Given the description of an element on the screen output the (x, y) to click on. 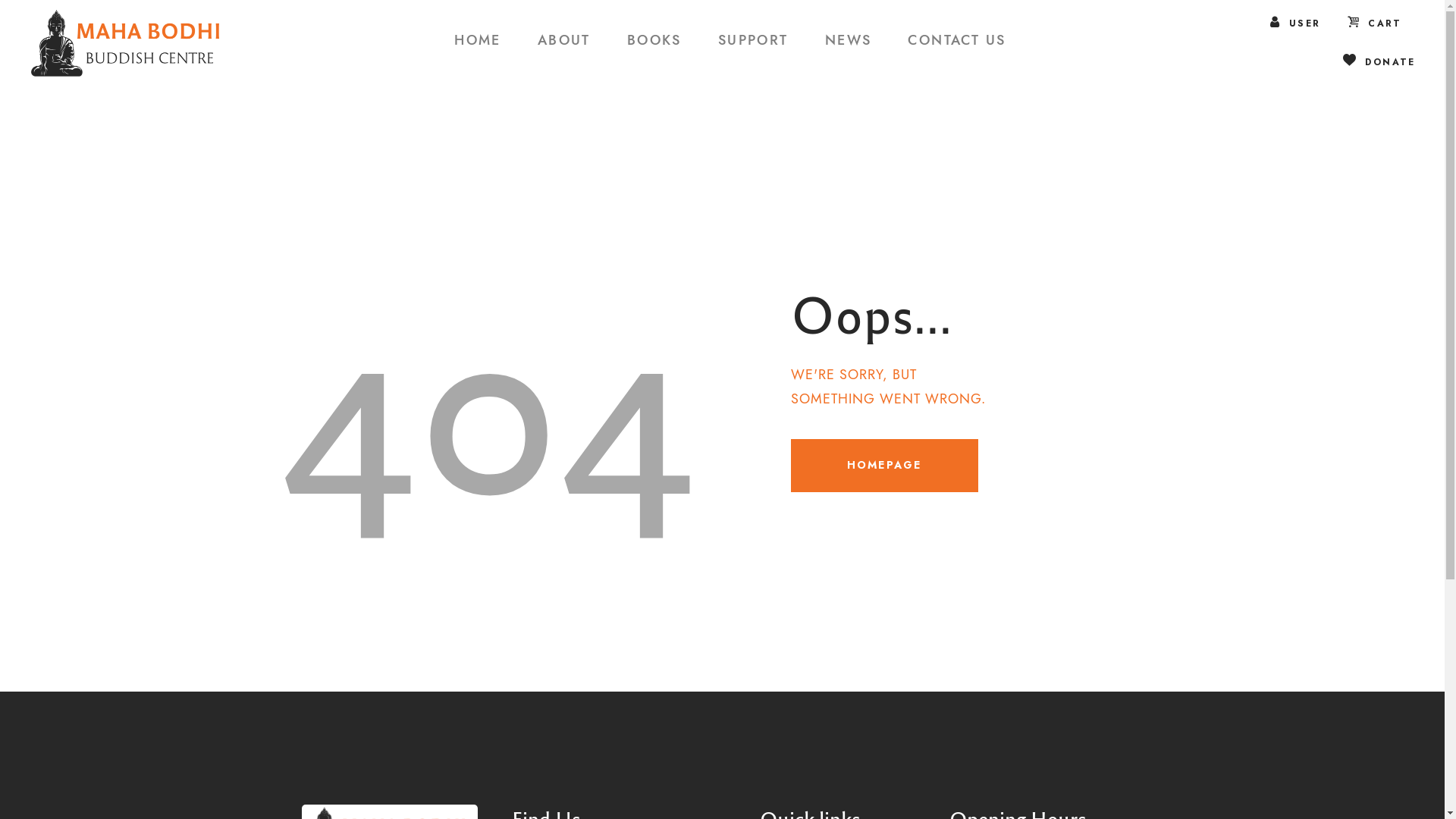
DONATE Element type: text (1379, 60)
CONTACT US Element type: text (956, 41)
HOMEPAGE Element type: text (883, 465)
ABOUT Element type: text (563, 41)
HOME Element type: text (477, 41)
SUPPORT Element type: text (752, 41)
BOOKS Element type: text (653, 41)
NEWS Element type: text (848, 41)
CART Element type: text (1375, 22)
USER Element type: text (1295, 22)
